Given the description of an element on the screen output the (x, y) to click on. 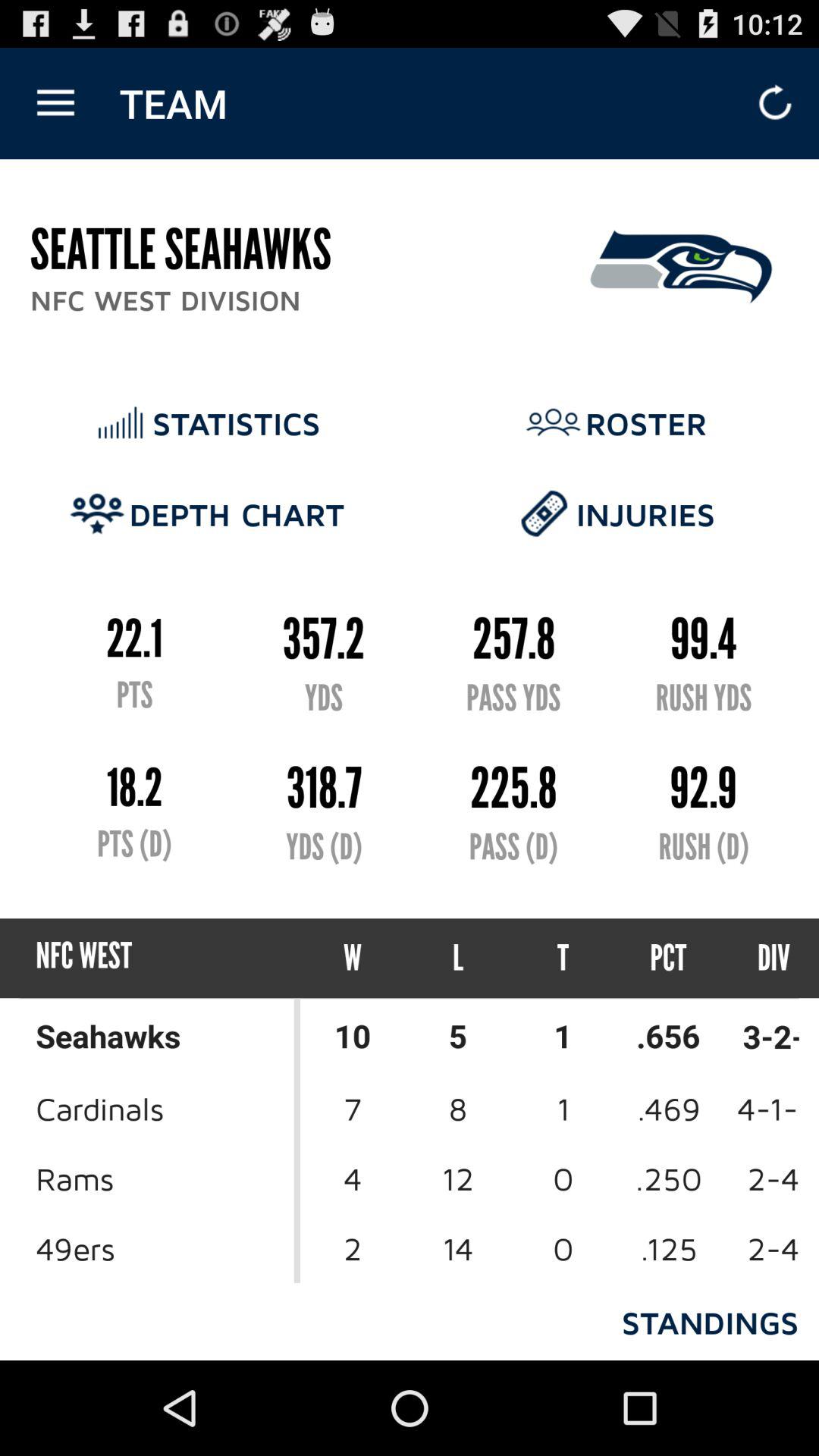
turn off t (562, 958)
